Given the description of an element on the screen output the (x, y) to click on. 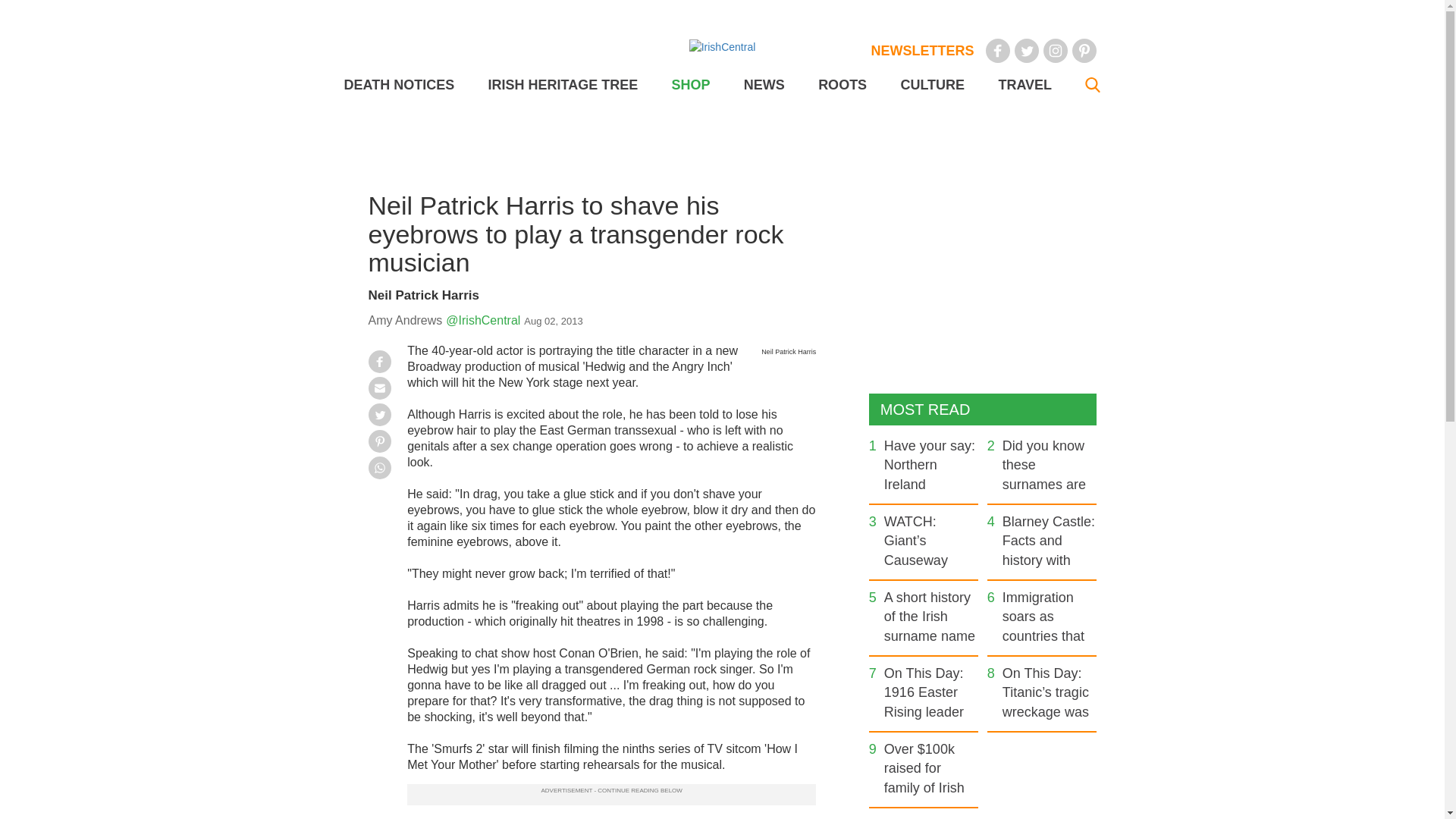
IRISH HERITAGE TREE (562, 84)
DEATH NOTICES (398, 84)
NEWSLETTERS (922, 50)
NEWS (764, 84)
ROOTS (842, 84)
TRAVEL (1024, 84)
SHOP (690, 84)
CULTURE (931, 84)
